Given the description of an element on the screen output the (x, y) to click on. 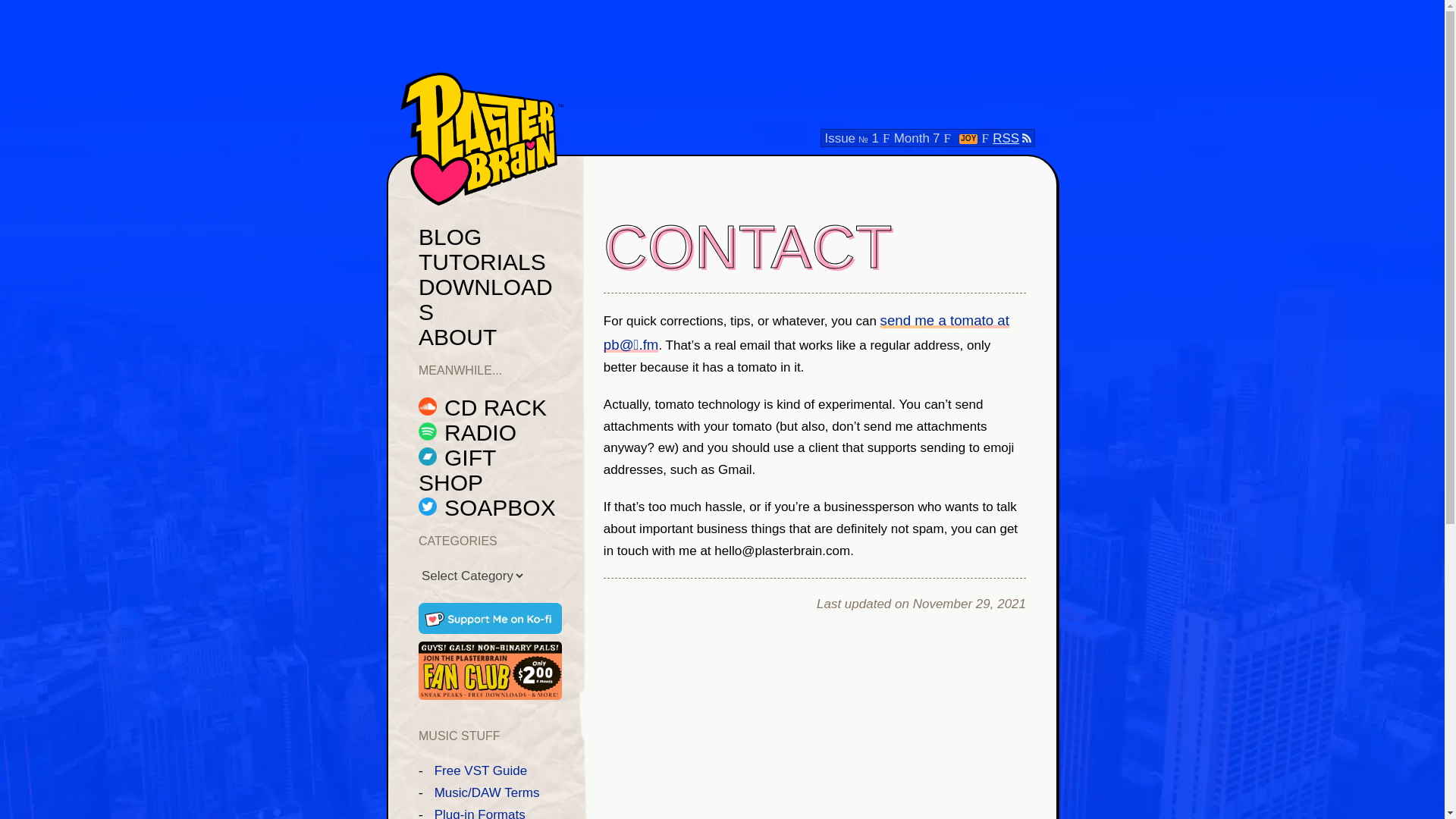
GIFT SHOP (457, 470)
DOWNLOADS (486, 299)
Free VST Guide (480, 770)
ABOUT (457, 336)
Plug-in Formats (479, 813)
RADIO (467, 432)
BLOG (450, 236)
TUTORIALS (482, 261)
CD RACK (483, 407)
RSS (1011, 137)
SOAPBOX (487, 507)
